Given the description of an element on the screen output the (x, y) to click on. 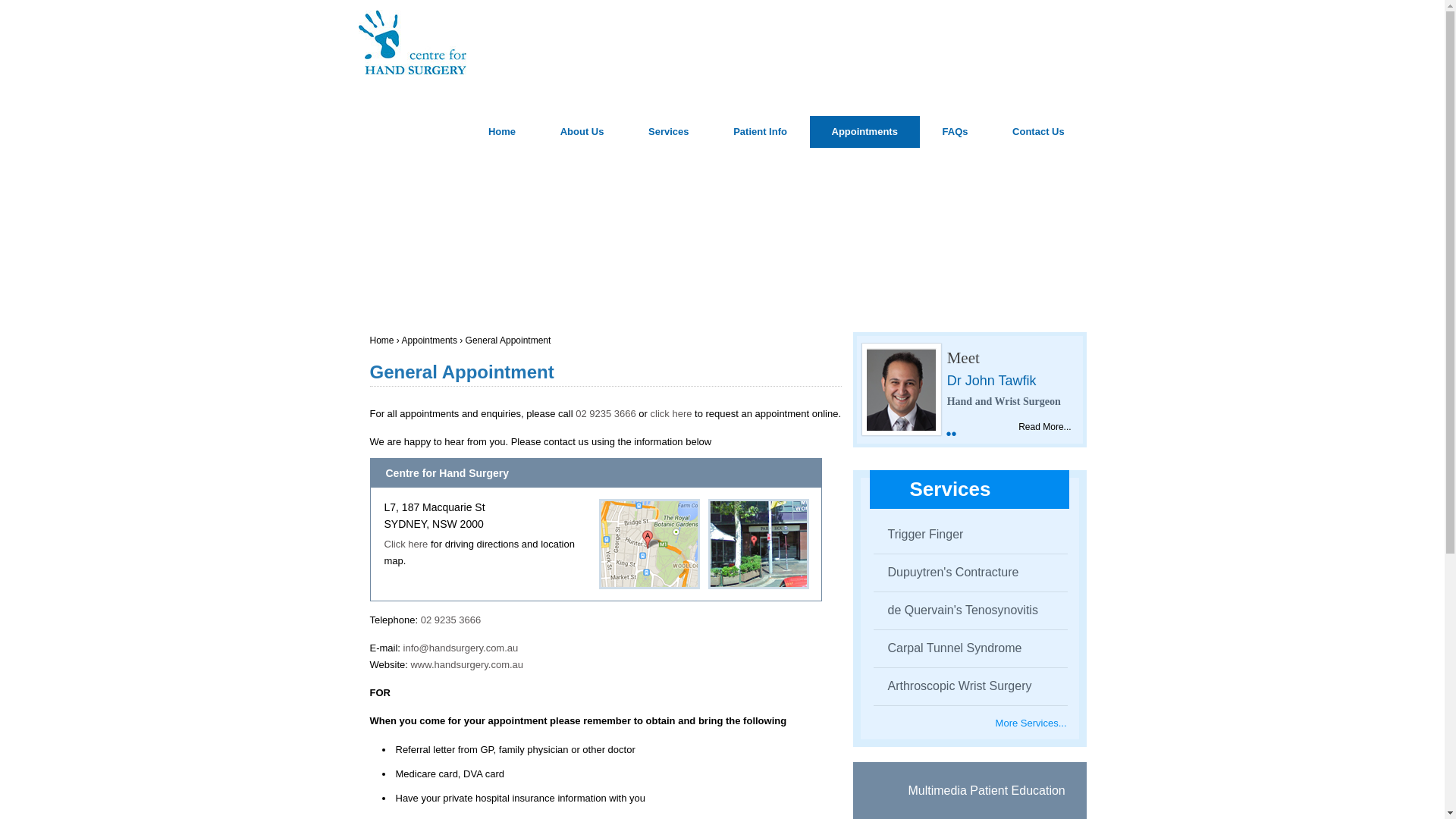
Patient Info (759, 132)
Appointments (429, 339)
Services (668, 132)
02 9235 3666 (450, 619)
Appointments (864, 132)
Home (381, 339)
www.handsurgery.com.au (466, 664)
Home (501, 132)
Trigger Finger (918, 533)
Contact Us (1038, 132)
02 9235 3666 (605, 413)
FAQs (955, 132)
Read More... (1043, 426)
Click here (406, 543)
About Us (582, 132)
